Given the description of an element on the screen output the (x, y) to click on. 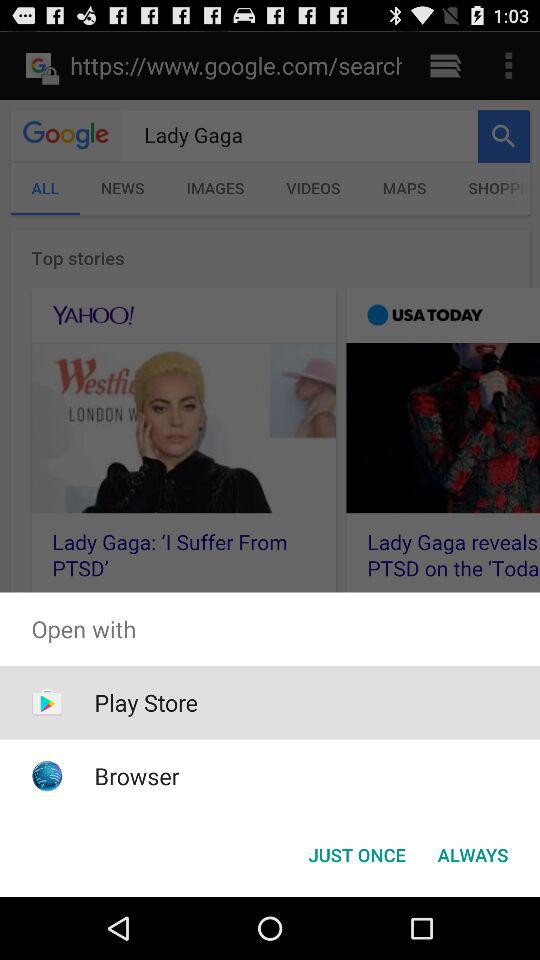
swipe to the always icon (472, 854)
